Given the description of an element on the screen output the (x, y) to click on. 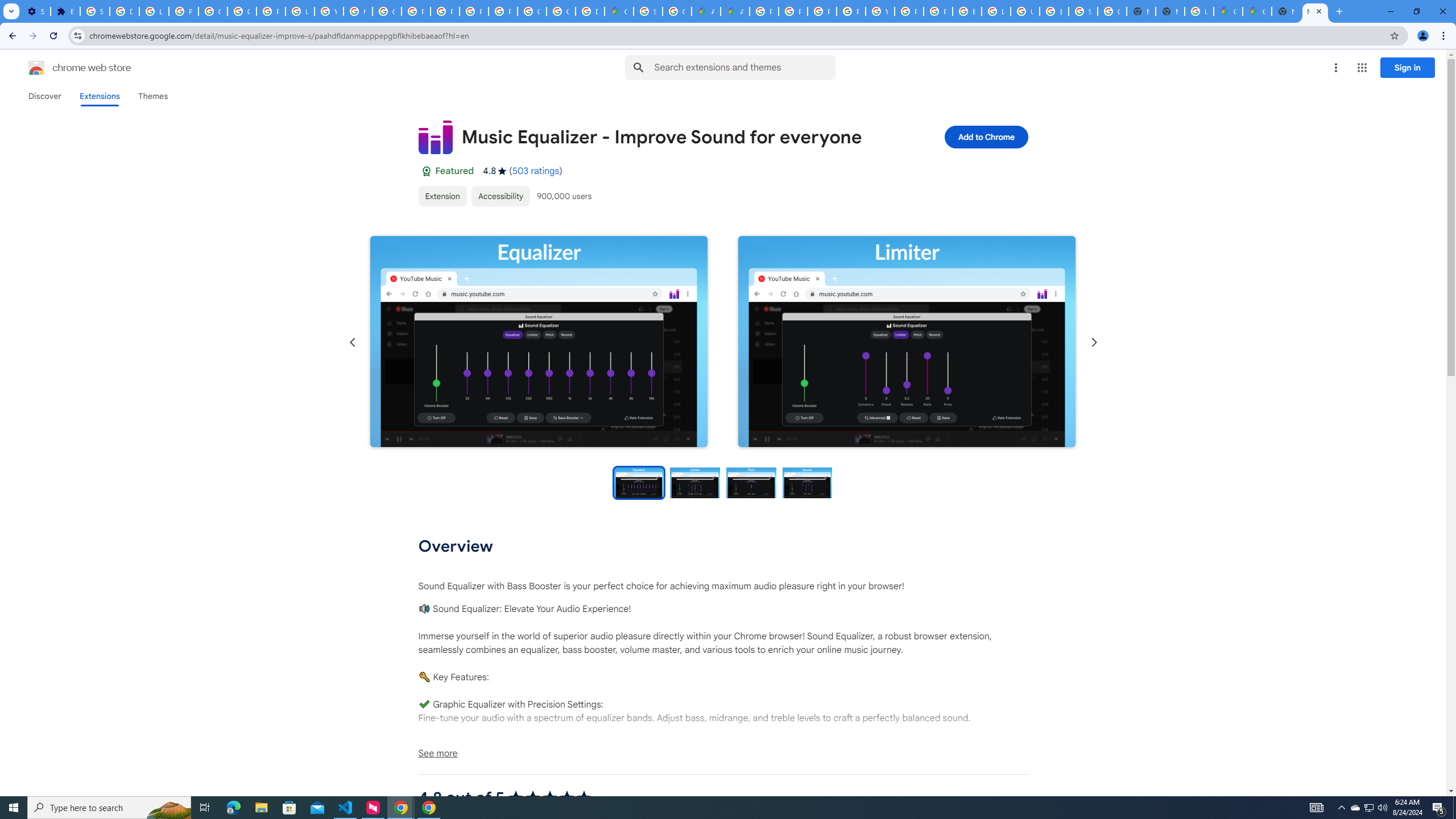
Search tabs (10, 11)
New Tab (1286, 11)
Privacy Help Center - Policies Help (821, 11)
Google Account Help (242, 11)
4.8 out of 5 stars (549, 797)
Back (10, 35)
Bookmark this tab (1393, 35)
Sign in - Google Accounts (648, 11)
503 ratings (535, 170)
Forward (32, 35)
Google Maps (619, 11)
You (1422, 35)
